Given the description of an element on the screen output the (x, y) to click on. 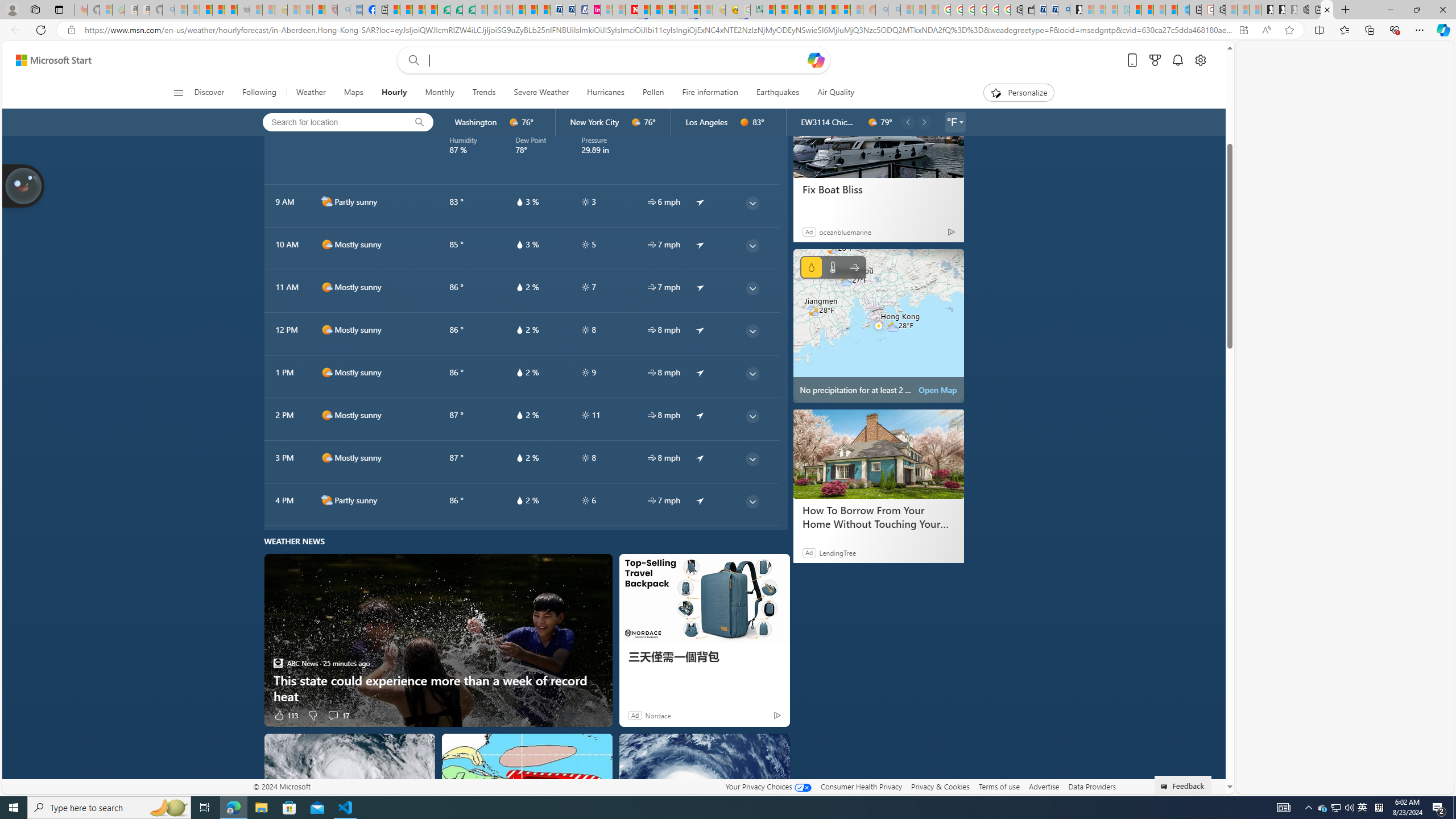
Hurricanes (605, 92)
Aberdeen, Hong Kong SAR hourly forecast | Microsoft Weather (1327, 9)
Class: feedback_link_icon-DS-EntryPoint1-1 (1165, 786)
Local - MSN (318, 9)
Your Privacy Choices (767, 786)
Fix Boat Bliss (878, 132)
